Given the description of an element on the screen output the (x, y) to click on. 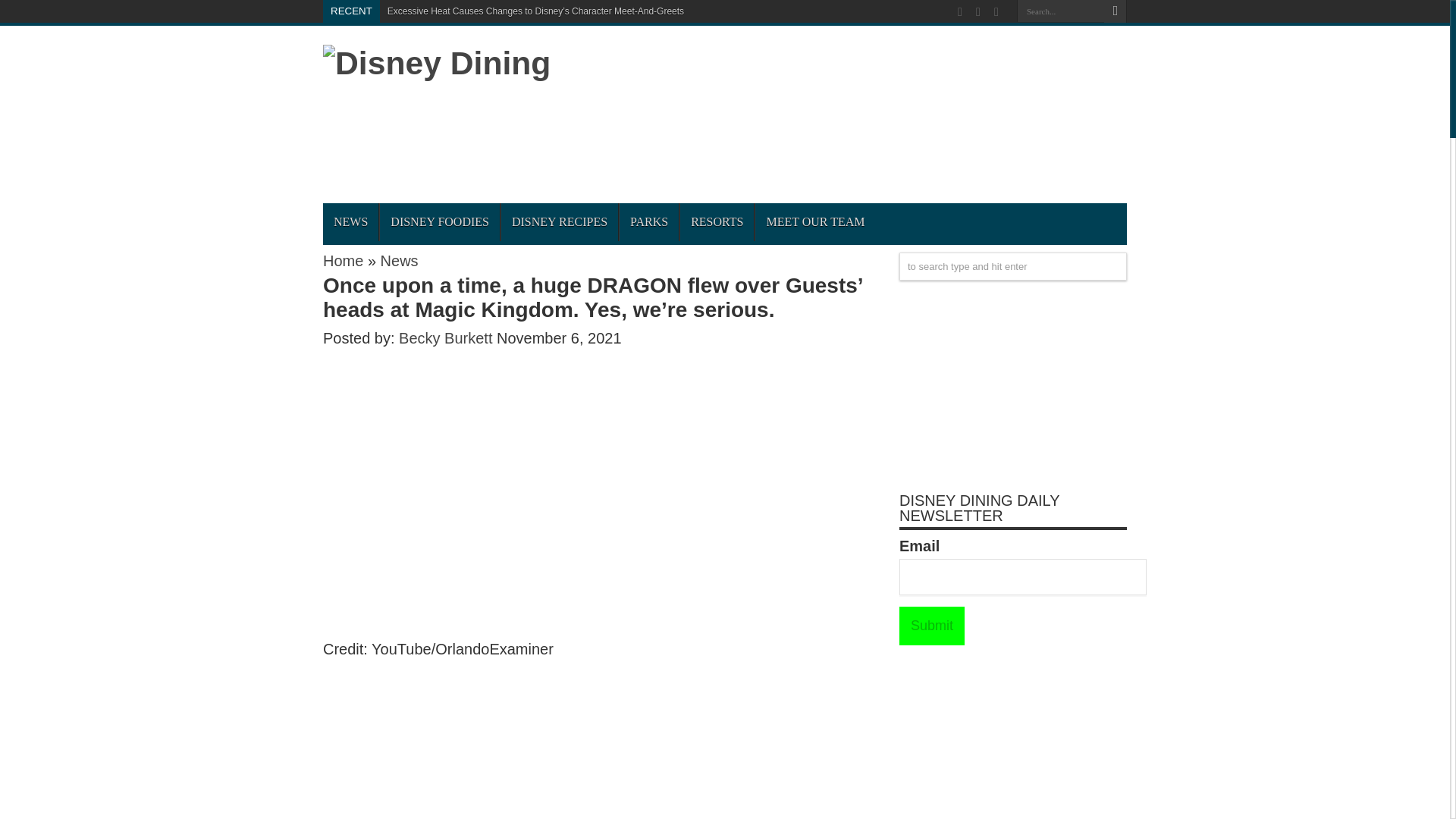
NEWS (350, 221)
Search... (1059, 11)
News (399, 260)
Search (1114, 11)
PARKS (648, 221)
DISNEY FOODIES (438, 221)
Becky Burkett (447, 338)
Home (342, 260)
Disney Dining (436, 63)
RESORTS (716, 221)
